Given the description of an element on the screen output the (x, y) to click on. 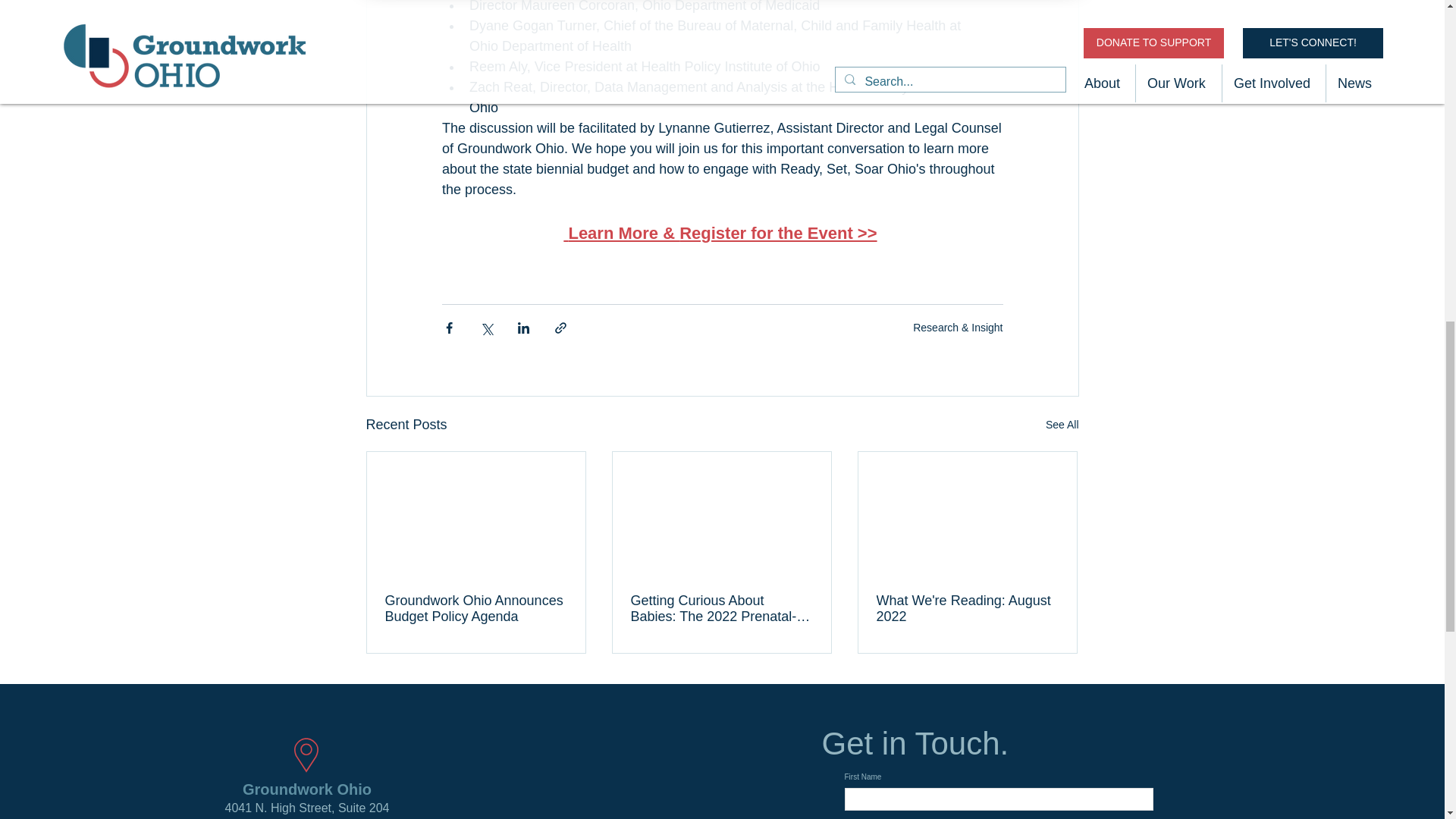
Groundwork Ohio Announces Budget Policy Agenda (476, 608)
See All (1061, 424)
